Given the description of an element on the screen output the (x, y) to click on. 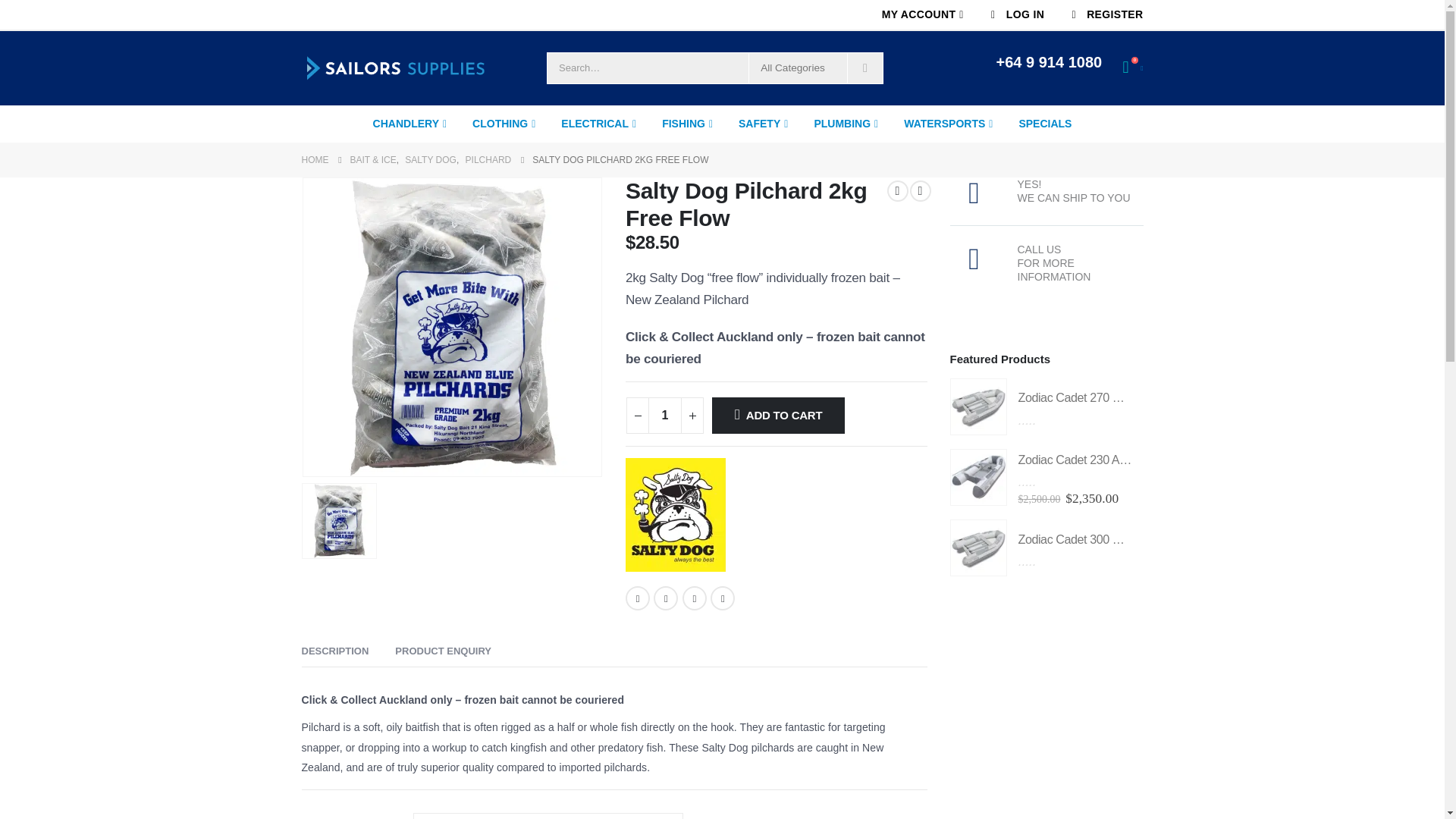
Salty Dog Pilchard FF 2kg (338, 520)
Email (722, 598)
Facebook (637, 598)
Salty Dog Pilchard FF 2kg (452, 327)
REGISTER (1098, 14)
1 (664, 415)
LOG IN (1015, 14)
CHANDLERY (410, 123)
Twitter (665, 598)
Zodiac Cadet 270 RIB Alu Light (977, 406)
